Given the description of an element on the screen output the (x, y) to click on. 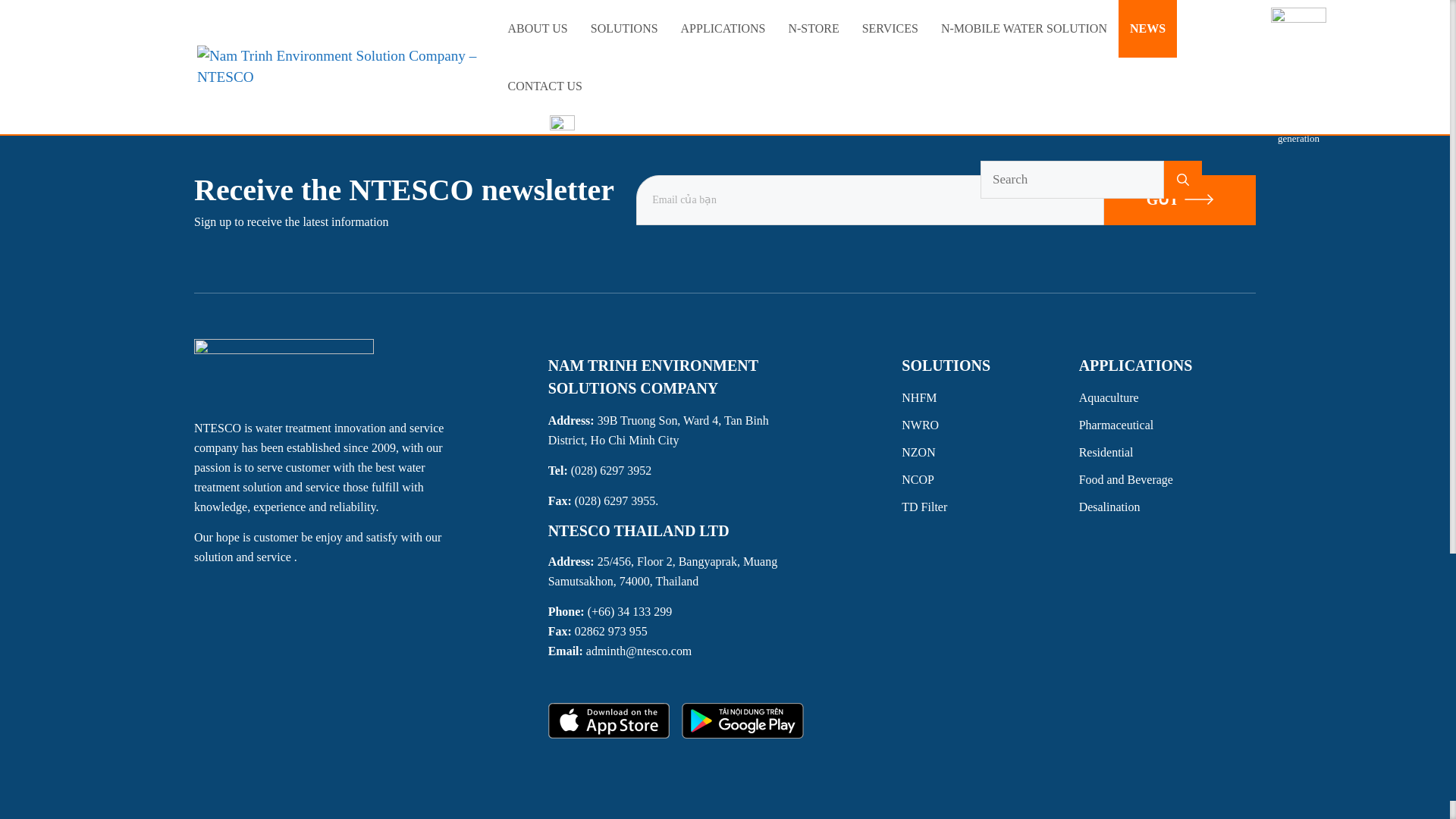
TD Filter (989, 506)
NHFM (989, 397)
NCOP (989, 479)
NWRO (989, 424)
NZON (989, 452)
